Given the description of an element on the screen output the (x, y) to click on. 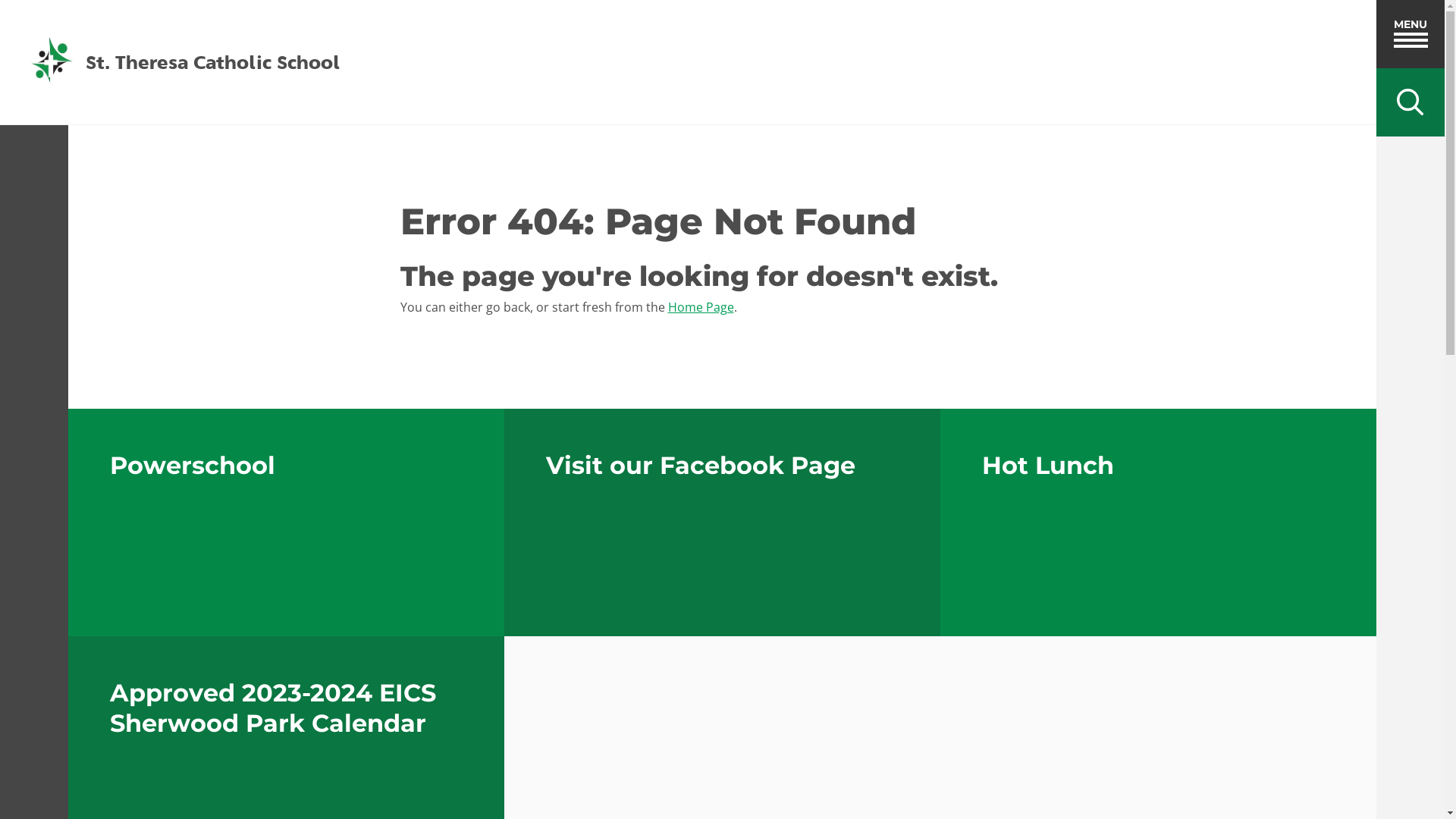
Home Page Element type: text (700, 306)
Powerschool Element type: text (286, 522)
MENU Element type: text (1410, 34)
Visit our Facebook Page Element type: text (722, 522)
home Element type: hover (51, 62)
Hot Lunch Element type: text (1158, 522)
